Given the description of an element on the screen output the (x, y) to click on. 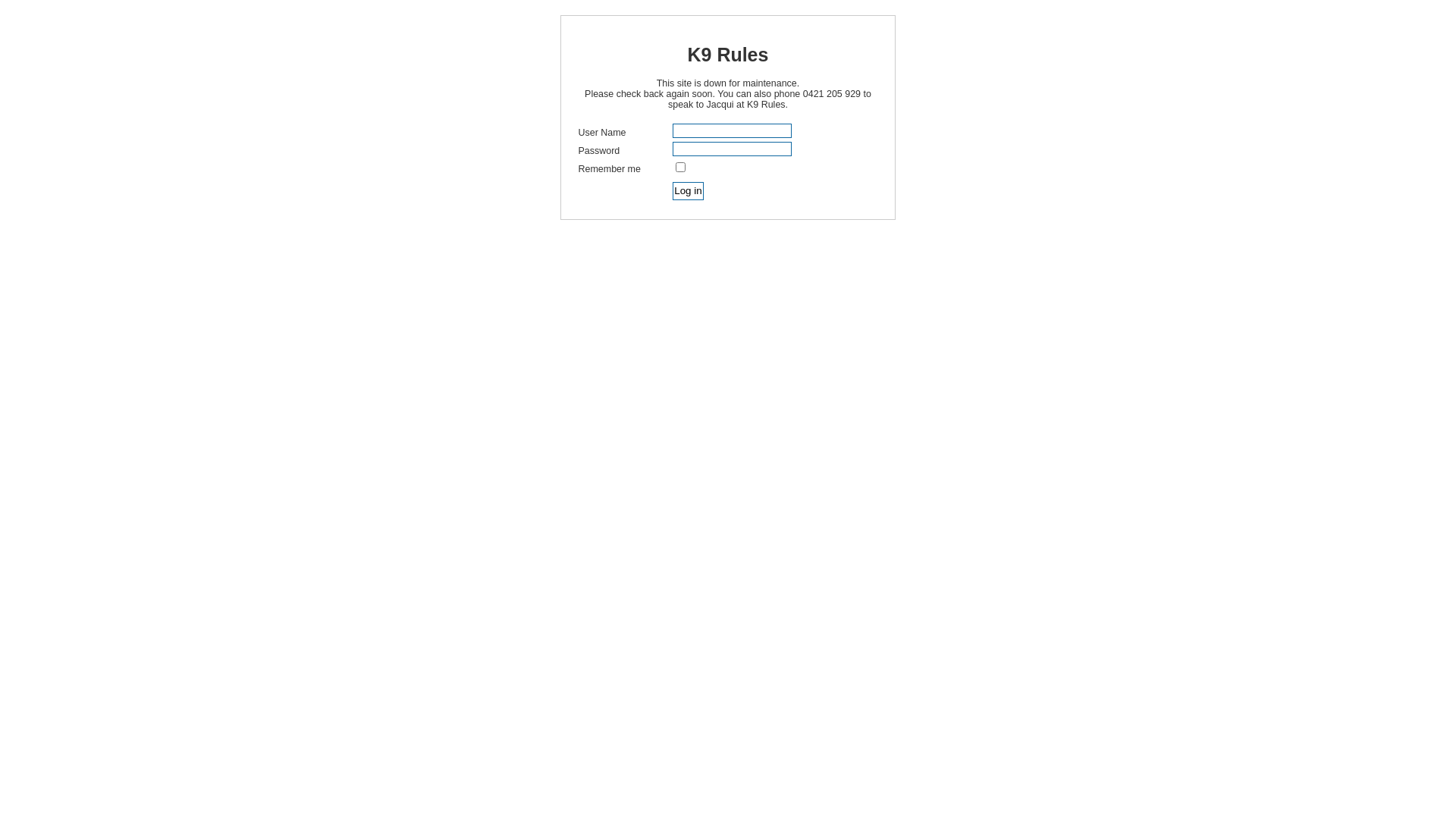
Log in Element type: text (687, 191)
